Given the description of an element on the screen output the (x, y) to click on. 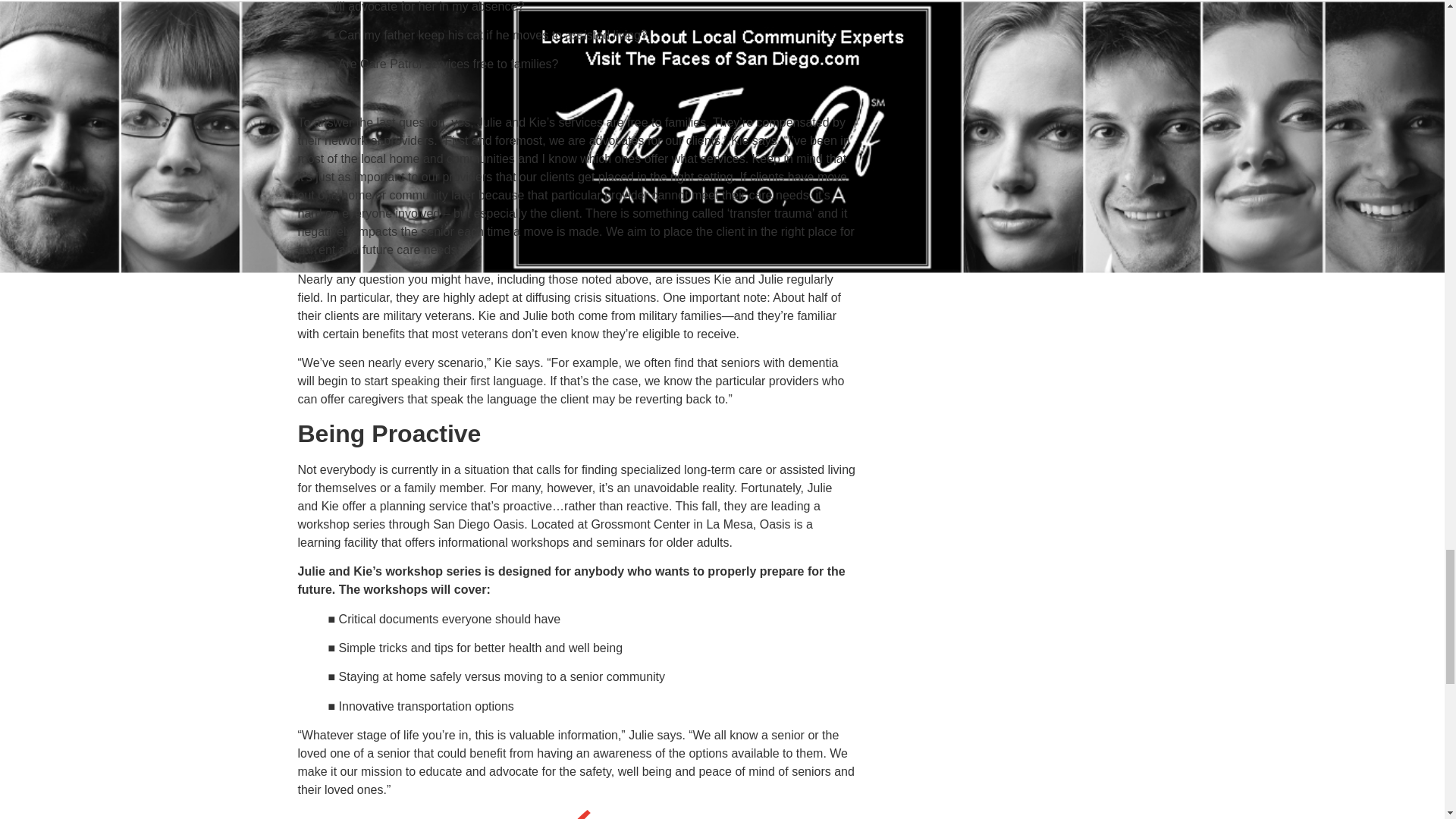
Care Patrol (576, 814)
